Given the description of an element on the screen output the (x, y) to click on. 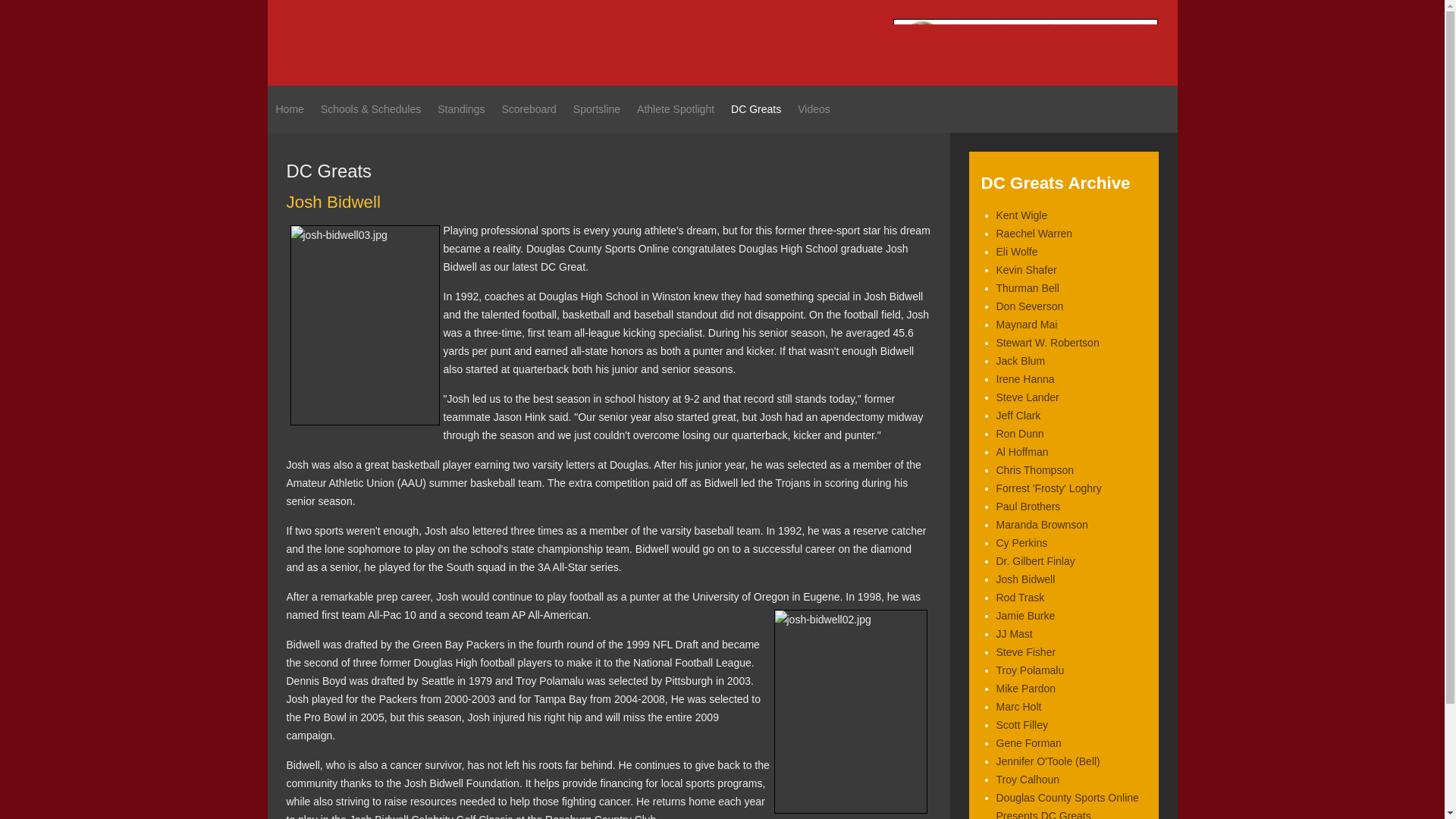
Eli Wolfe (1016, 251)
Steve Lander (1027, 397)
Kent Wigle (1021, 215)
JJ Mast (1013, 633)
Irene Hanna (1024, 378)
Cow Creek Top 1 (1025, 41)
Kevin Shafer (1026, 269)
Steve Fisher (1026, 652)
Jamie Burke (1025, 615)
Standings (460, 108)
